Given the description of an element on the screen output the (x, y) to click on. 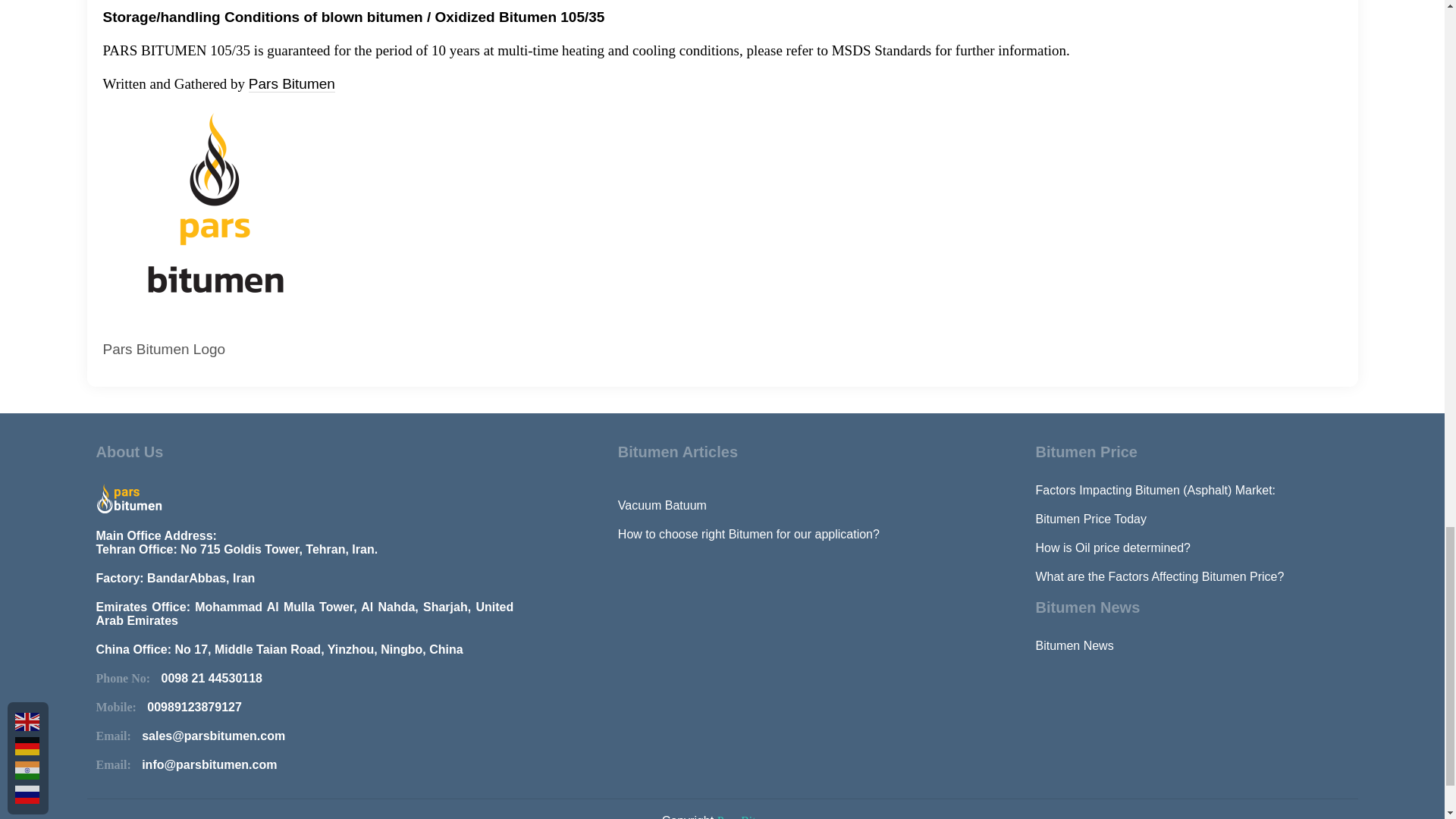
0098 21 44530118 (211, 677)
Mobile: (121, 707)
Pars Bitumen (291, 84)
